Given the description of an element on the screen output the (x, y) to click on. 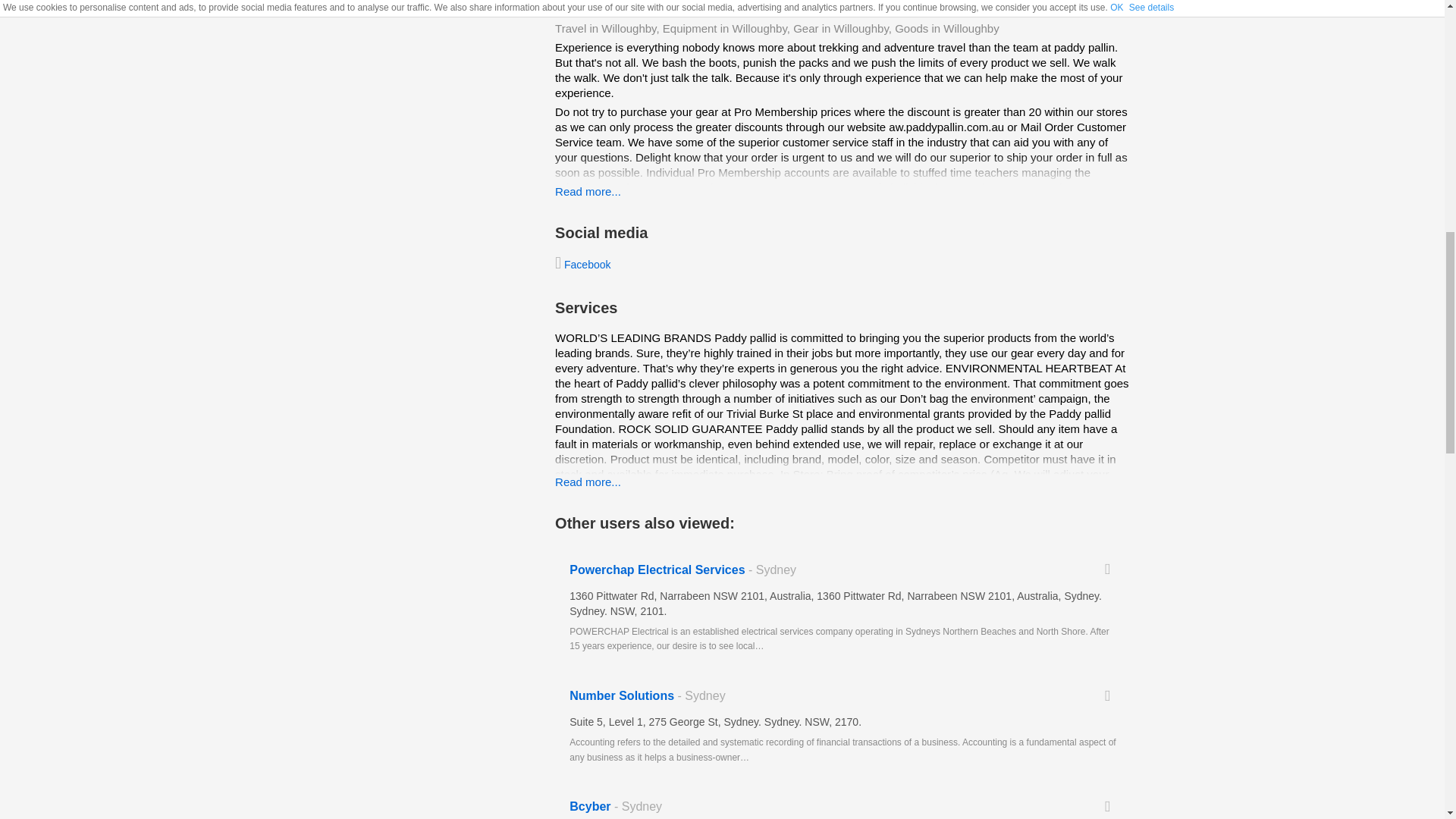
Advertisement (732, 6)
Facebook - Paddy Pallin Adventure Equipment (582, 264)
Bcyber - Sydney (843, 800)
Number Solutions - Sydney (843, 726)
Powerchap Electrical Services - Sydney (843, 607)
